Given the description of an element on the screen output the (x, y) to click on. 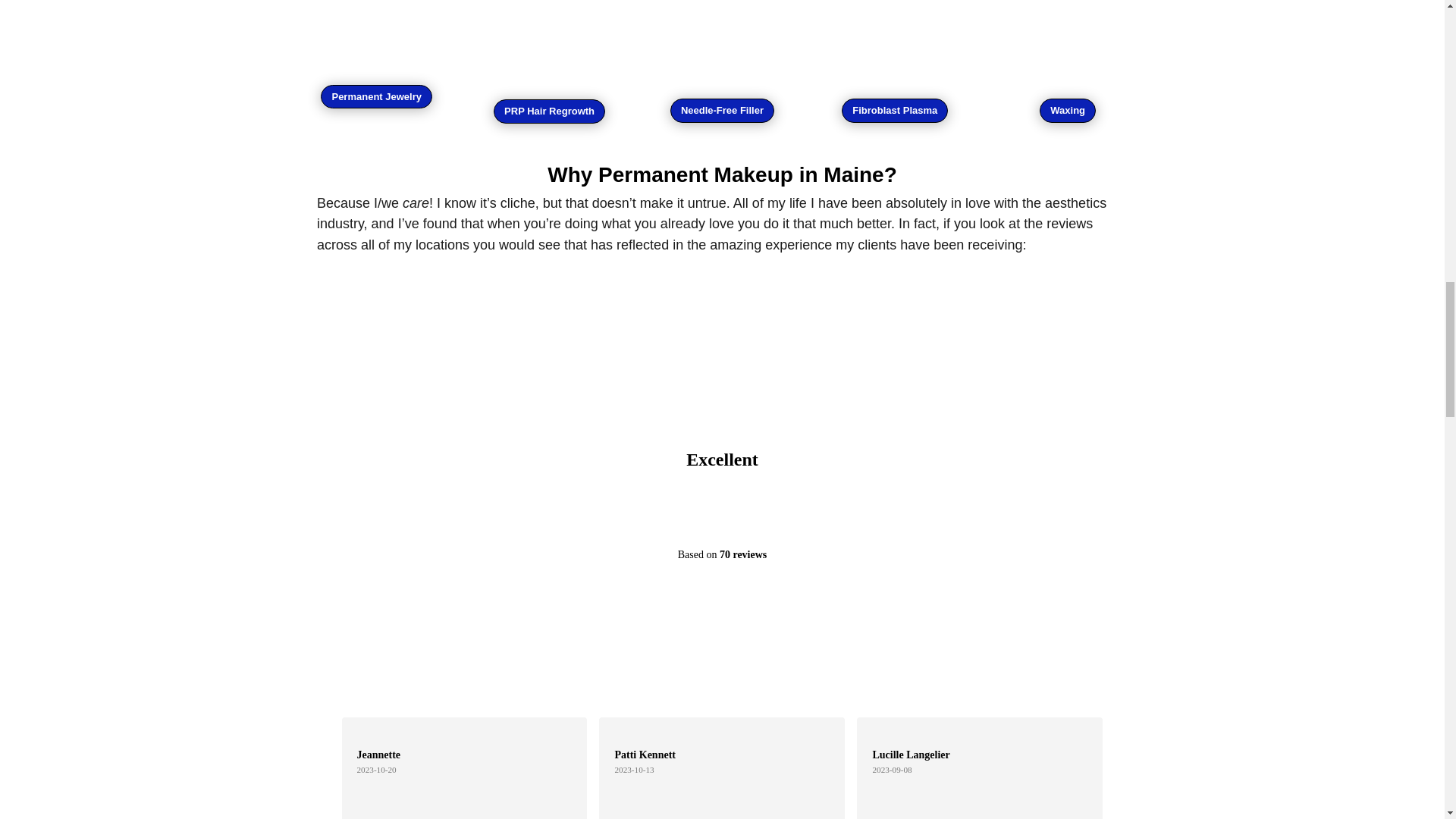
Fibroblast-Website-Image-572x286 (894, 38)
nf-botox (722, 38)
Waxing Website Image 572x286 (1067, 38)
